Given the description of an element on the screen output the (x, y) to click on. 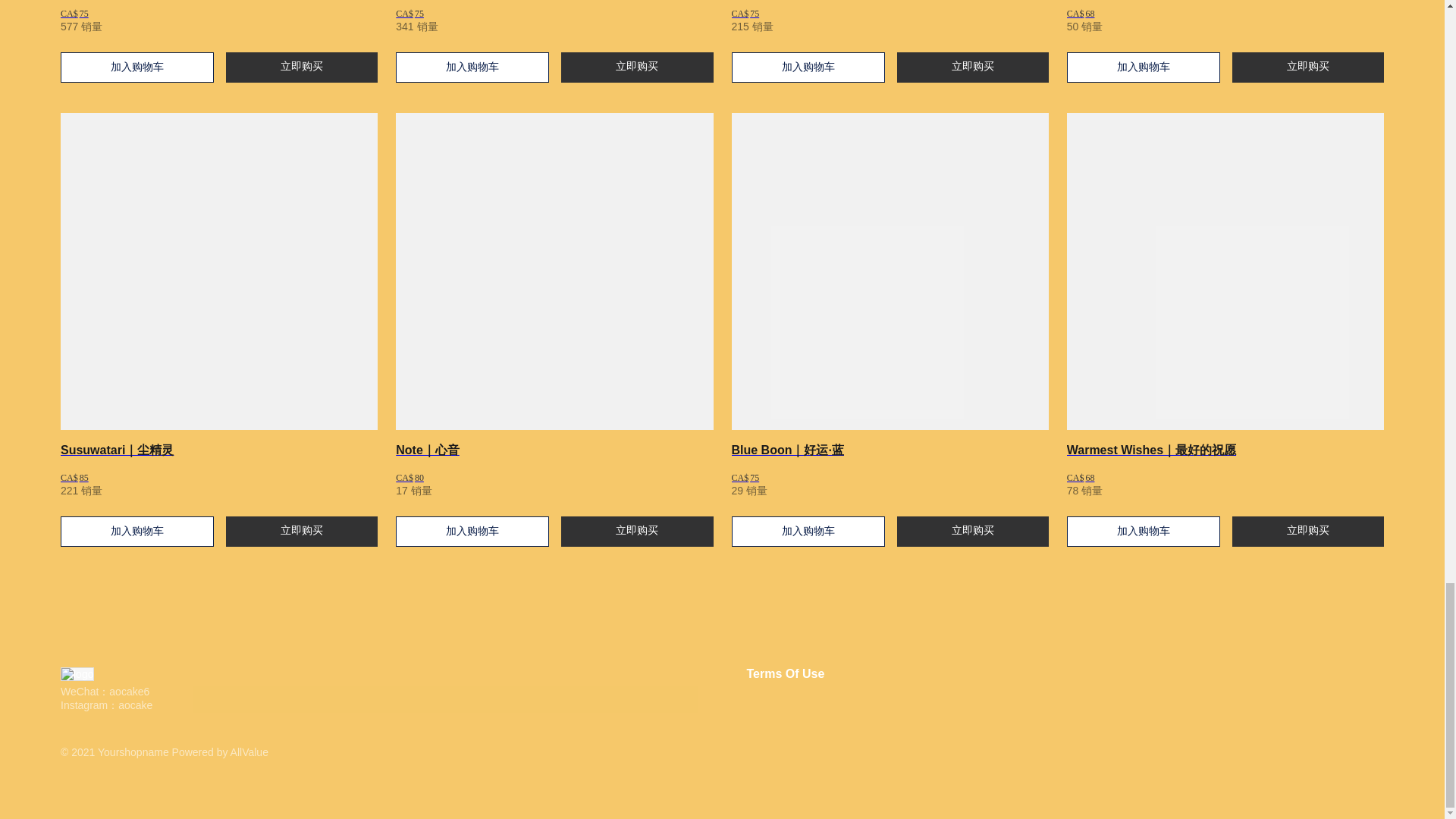
logo (152, 673)
